Given the description of an element on the screen output the (x, y) to click on. 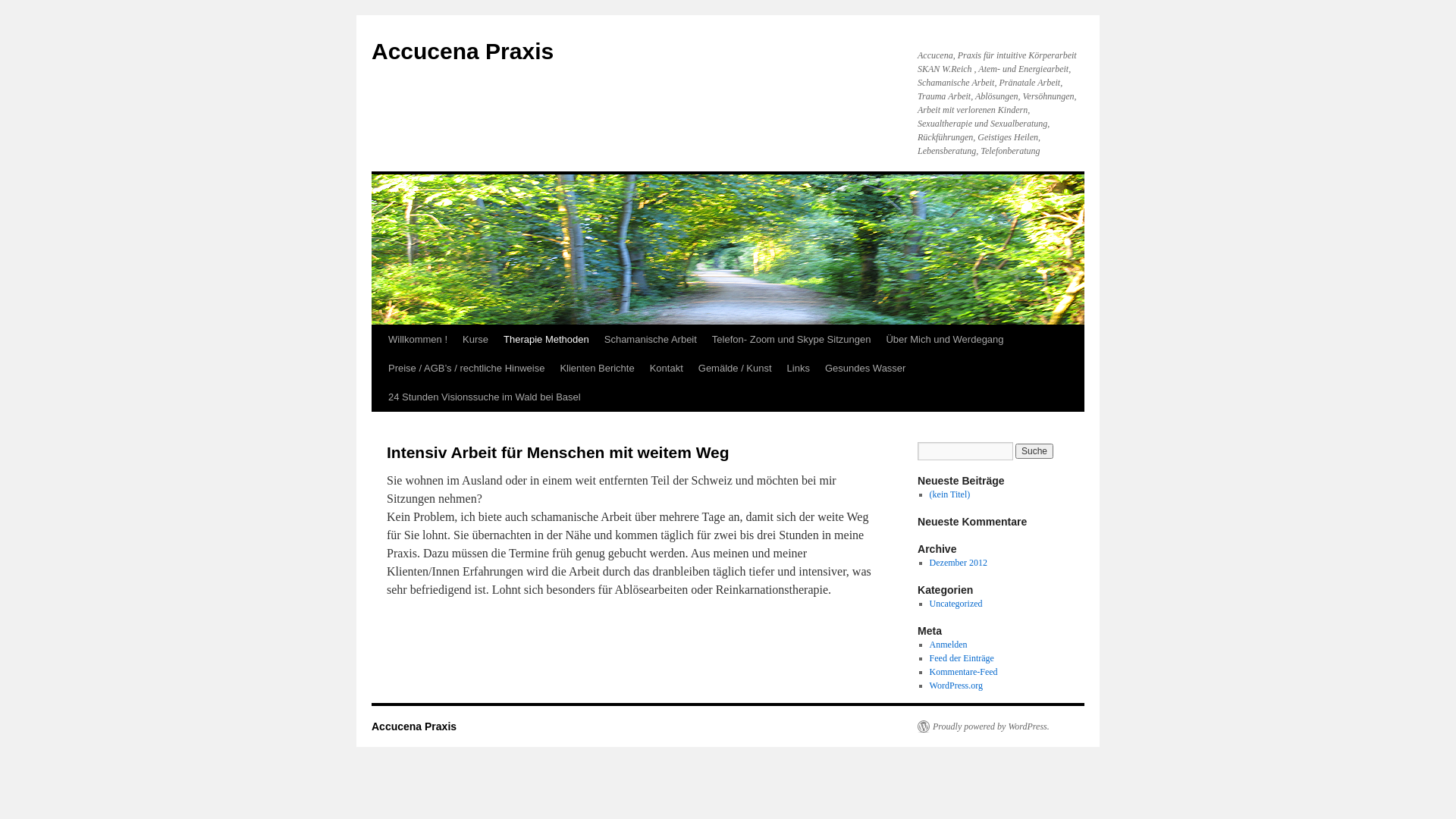
Links Element type: text (798, 368)
Kurse Element type: text (475, 339)
Accucena Praxis Element type: text (413, 726)
Schamanische Arbeit Element type: text (650, 339)
Uncategorized Element type: text (955, 603)
Kommentare-Feed Element type: text (963, 671)
Kontakt Element type: text (666, 368)
Telefon- Zoom und Skype Sitzungen Element type: text (791, 339)
Dezember 2012 Element type: text (958, 562)
Anmelden Element type: text (948, 644)
Proudly powered by WordPress. Element type: text (983, 726)
Willkommen ! Element type: text (417, 339)
Klienten Berichte Element type: text (596, 368)
24 Stunden Visionssuche im Wald bei Basel Element type: text (484, 396)
Gesundes Wasser Element type: text (865, 368)
(kein Titel) Element type: text (949, 494)
Therapie Methoden Element type: text (545, 339)
WordPress.org Element type: text (955, 685)
Suche Element type: text (1034, 450)
Accucena Praxis Element type: text (462, 50)
